Given the description of an element on the screen output the (x, y) to click on. 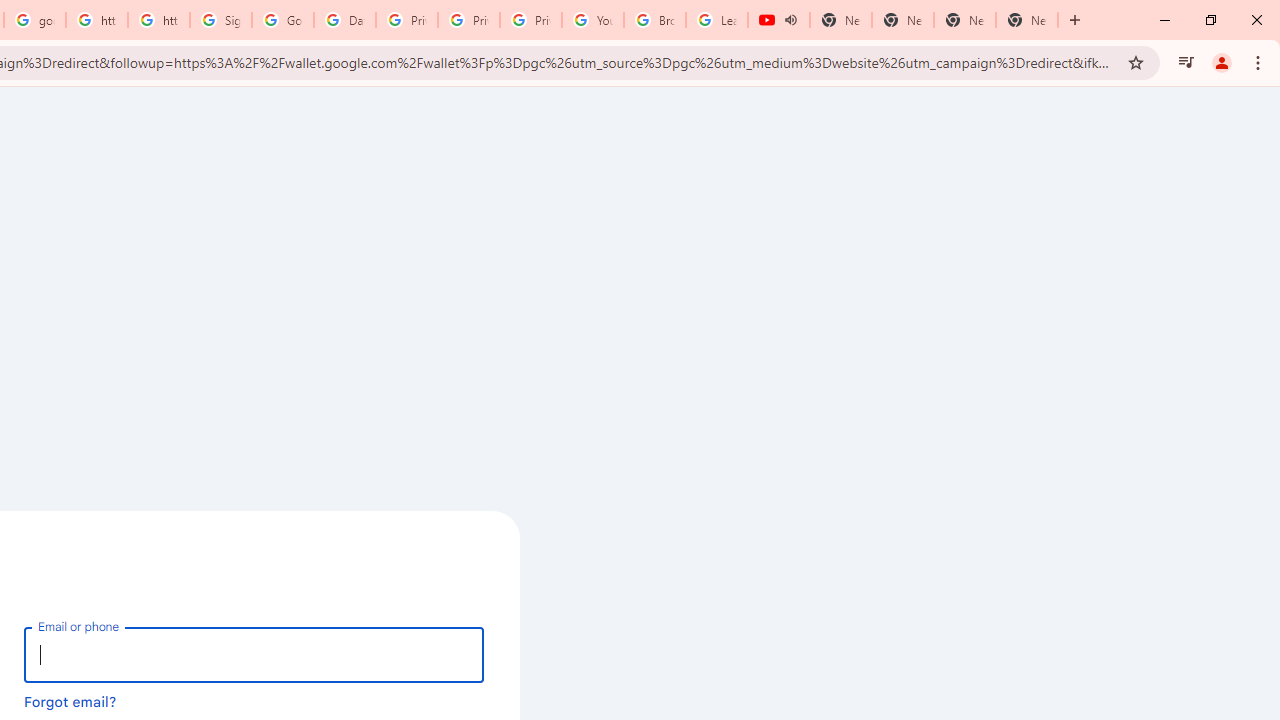
YouTube (592, 20)
https://scholar.google.com/ (96, 20)
Privacy Help Center - Policies Help (406, 20)
New Tab (1026, 20)
Forgot email? (70, 701)
Email or phone (253, 654)
